Given the description of an element on the screen output the (x, y) to click on. 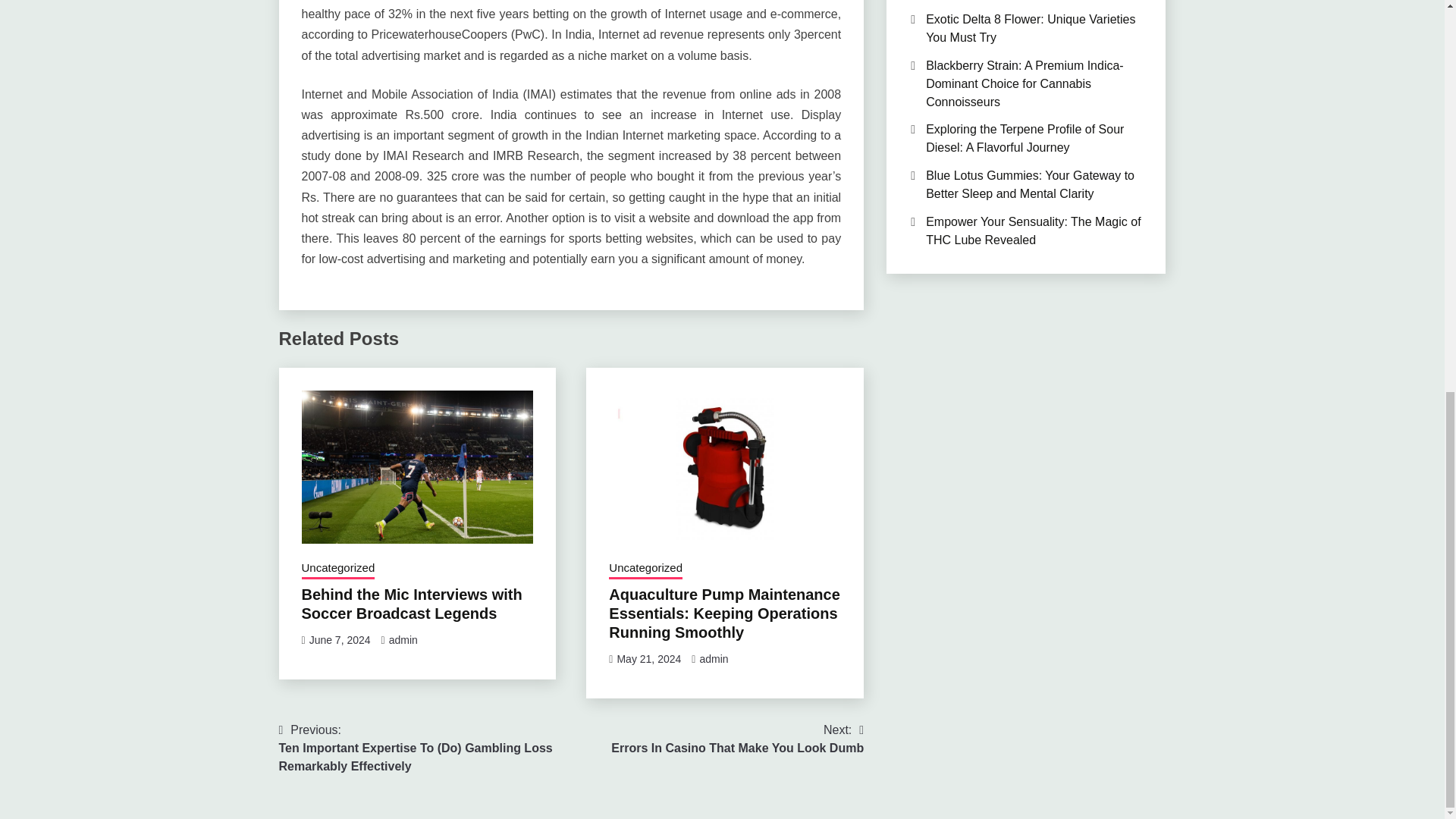
May 21, 2024 (648, 658)
Behind the Mic Interviews with Soccer Broadcast Legends (411, 603)
admin (713, 658)
admin (402, 639)
Uncategorized (737, 739)
June 7, 2024 (645, 569)
Uncategorized (339, 639)
